Given the description of an element on the screen output the (x, y) to click on. 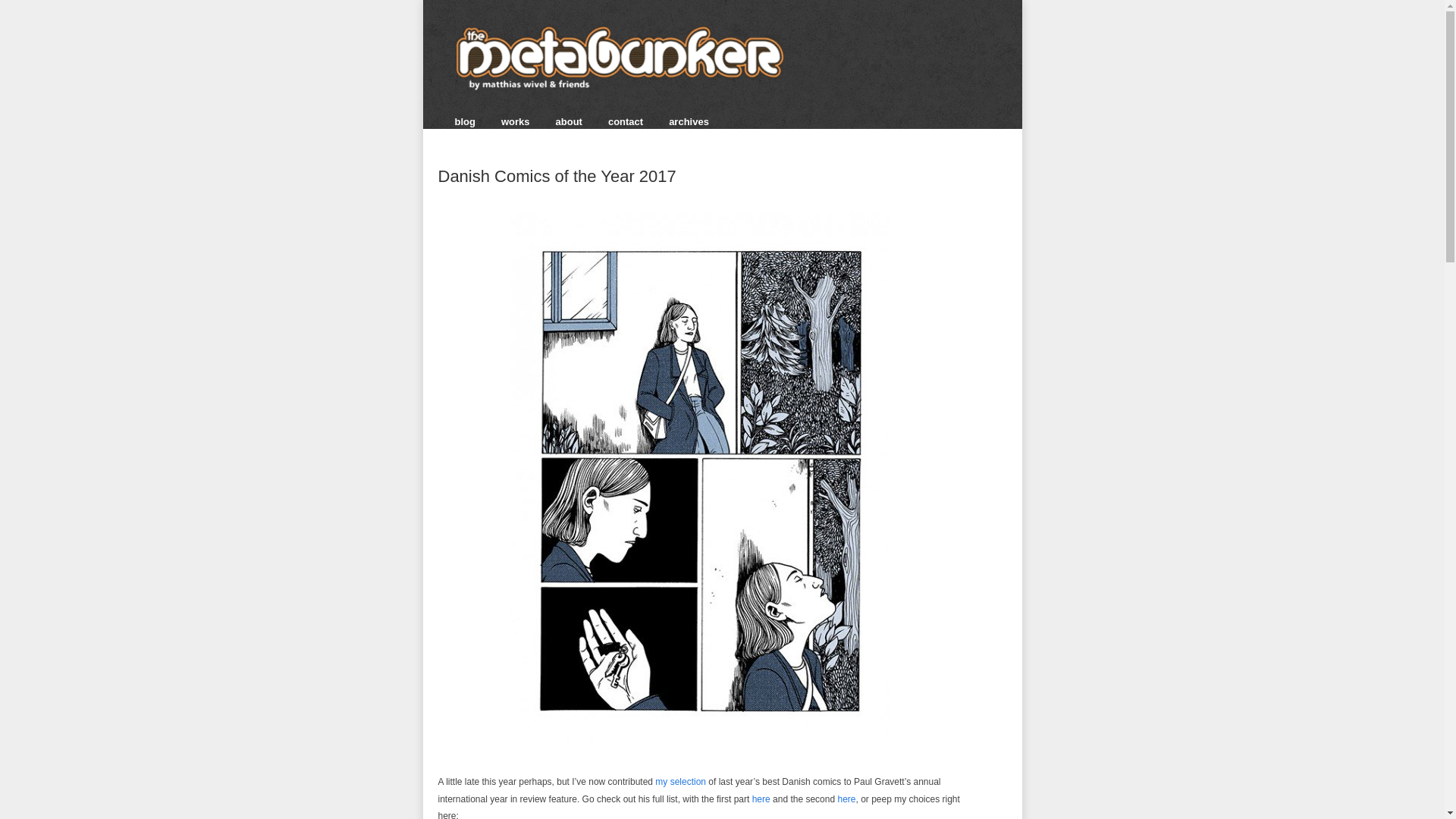
my selection (680, 781)
works (515, 121)
archives (688, 121)
here (846, 798)
here (761, 798)
about (569, 121)
contact (625, 121)
blog (464, 121)
